Given the description of an element on the screen output the (x, y) to click on. 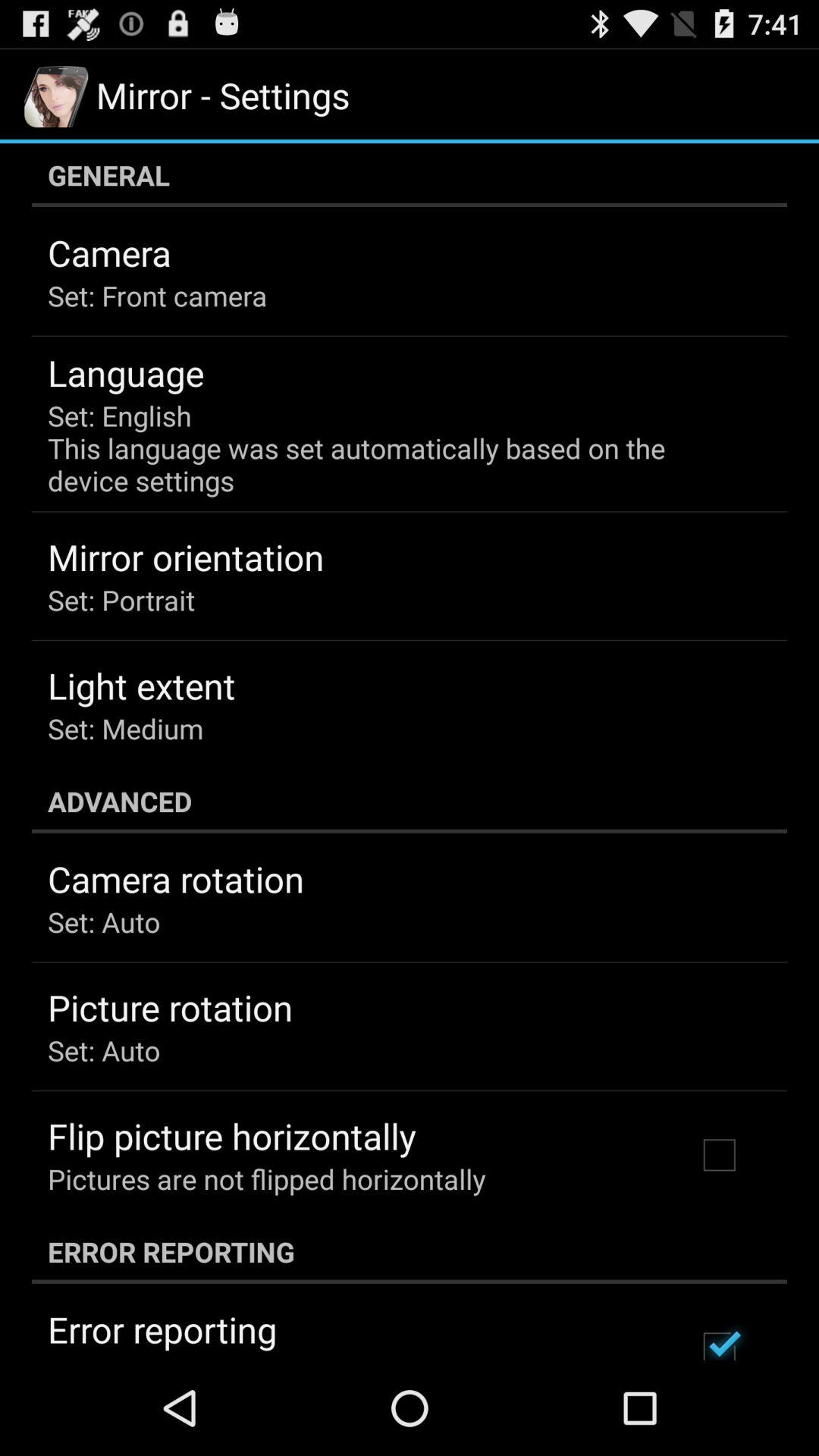
click the app below the advanced icon (175, 878)
